Given the description of an element on the screen output the (x, y) to click on. 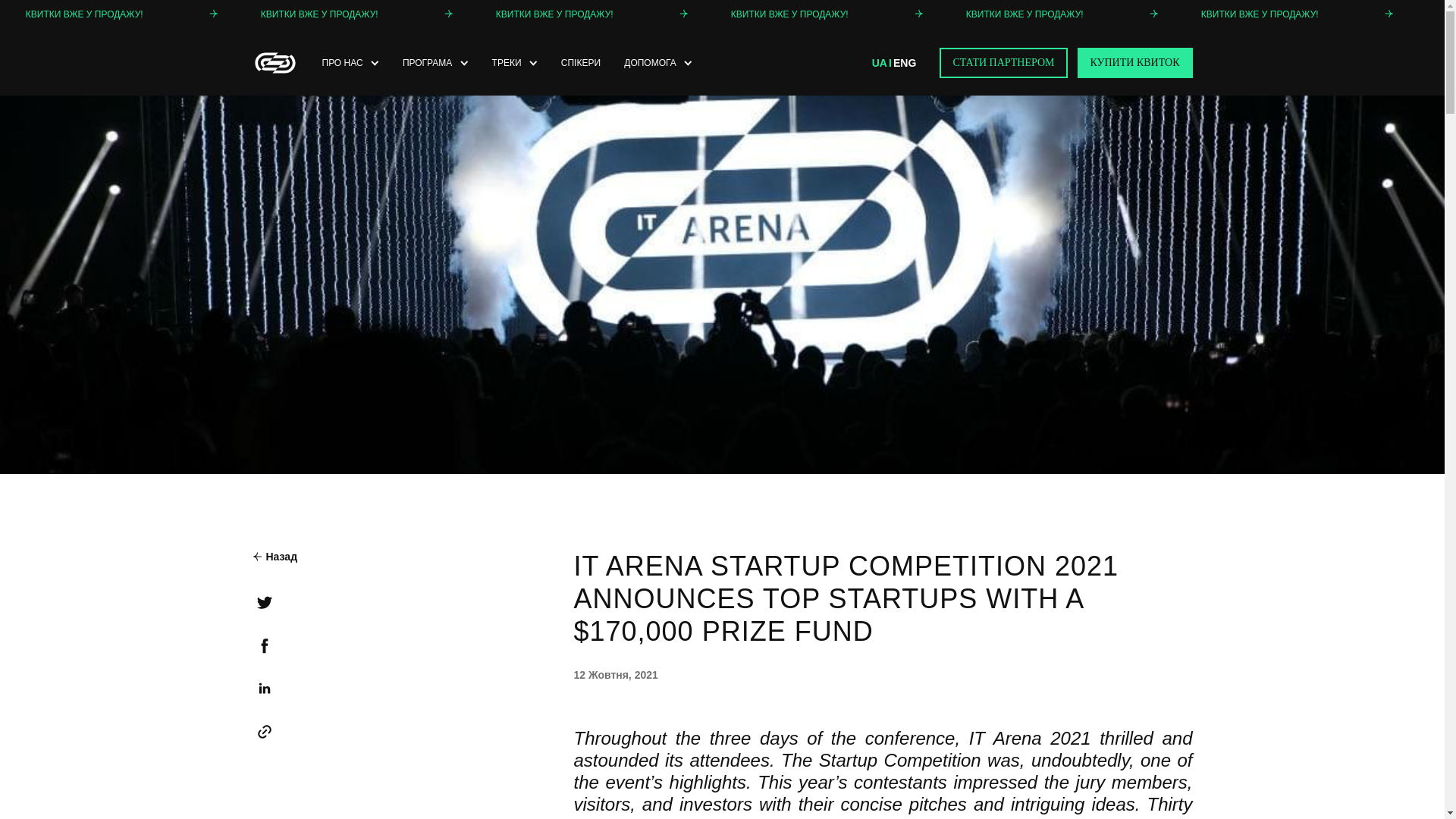
UA (879, 62)
ENG (904, 62)
